Given the description of an element on the screen output the (x, y) to click on. 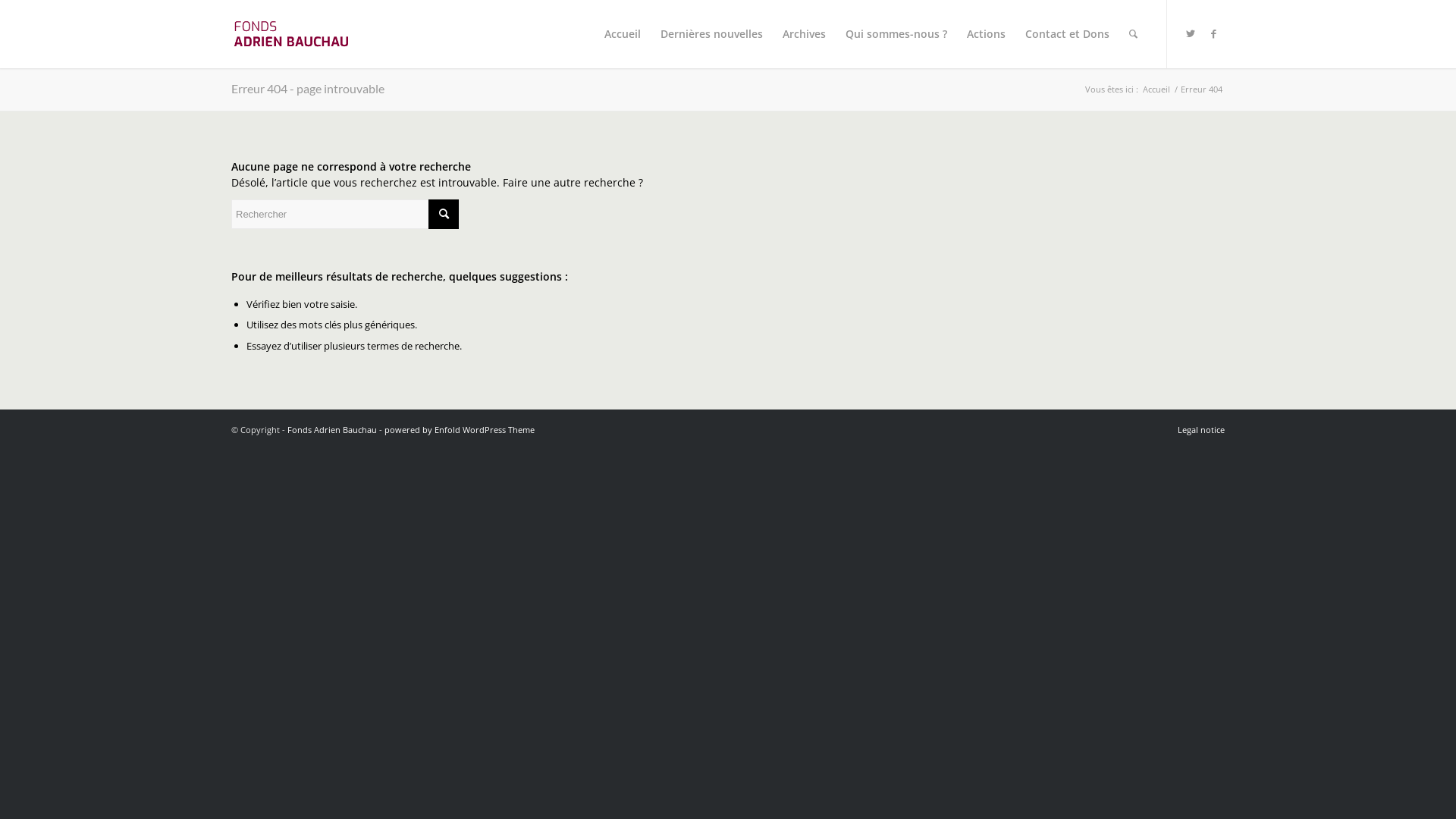
Legal notice Element type: text (1200, 429)
Contact et Dons Element type: text (1067, 34)
Actions Element type: text (986, 34)
Accueil Element type: text (622, 34)
powered by Enfold WordPress Theme Element type: text (459, 429)
Erreur 404 - page introuvable Element type: text (307, 88)
Accueil Element type: text (1156, 88)
Twitter Element type: hover (1190, 32)
Qui sommes-nous ? Element type: text (896, 34)
logo-adrien-bauchau-red Element type: hover (293, 34)
Fonds Adrien Bauchau Element type: text (331, 429)
Archives Element type: text (803, 34)
Facebook Element type: hover (1212, 32)
